Given the description of an element on the screen output the (x, y) to click on. 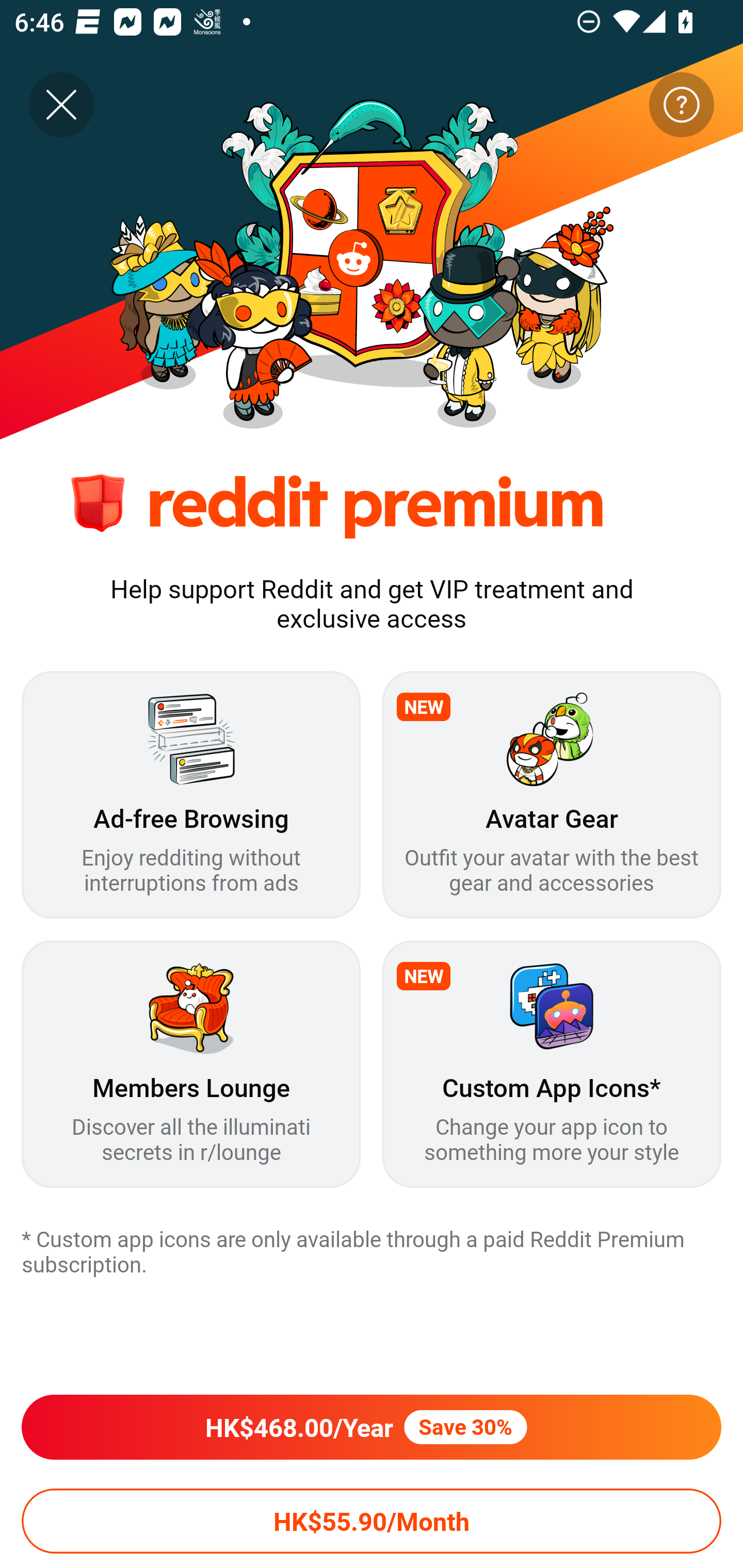
Close (60, 104)
Learn more (681, 104)
HK$468.00/YearSave 30% (371, 1426)
HK$55.90/Month (371, 1520)
